Given the description of an element on the screen output the (x, y) to click on. 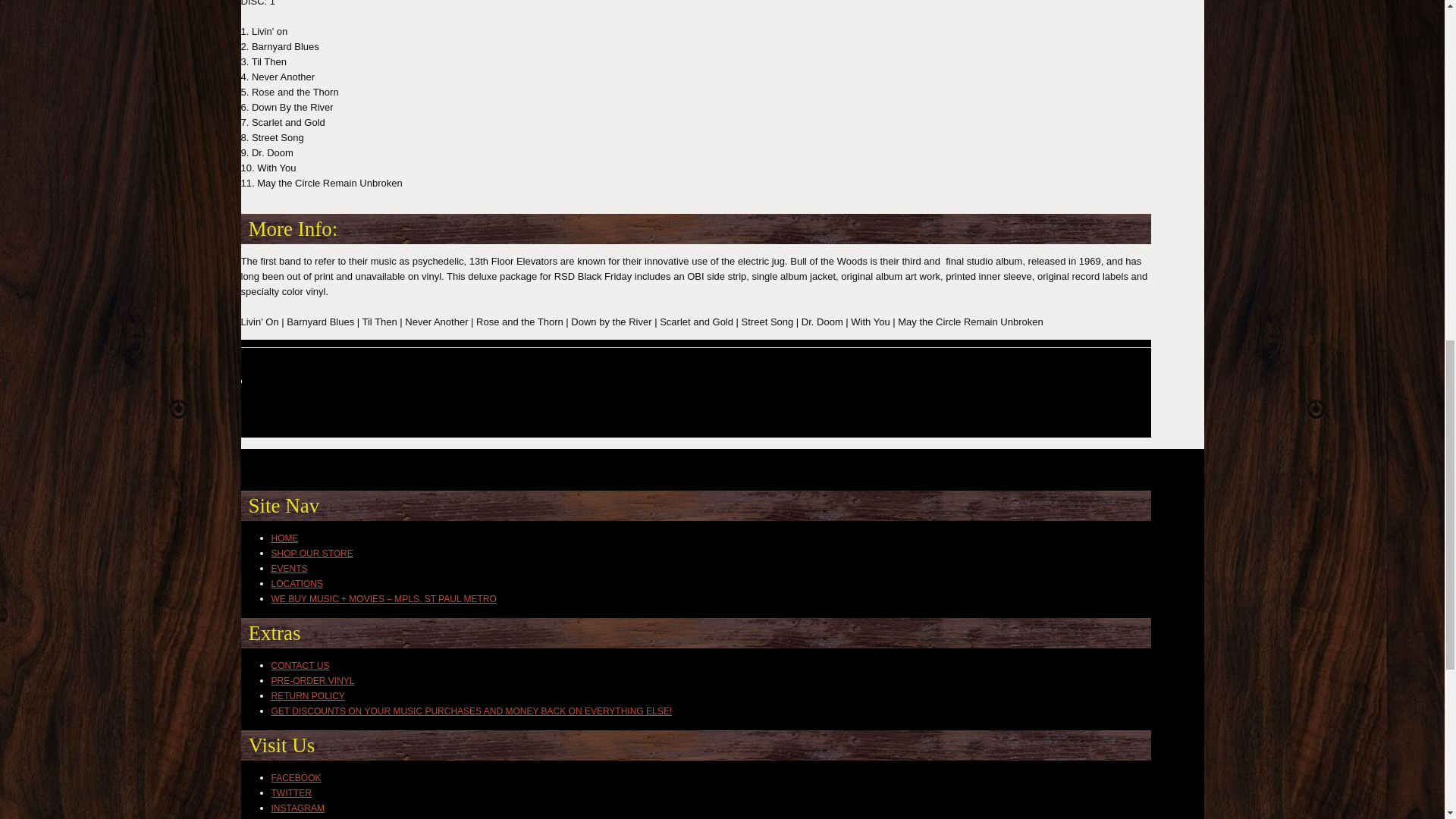
on (328, 532)
